Given the description of an element on the screen output the (x, y) to click on. 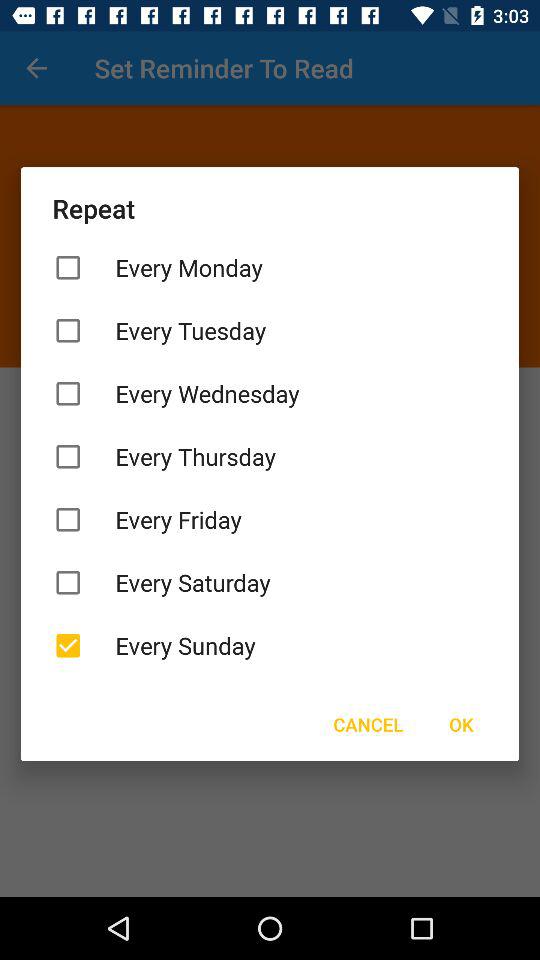
flip to the every wednesday (270, 393)
